Given the description of an element on the screen output the (x, y) to click on. 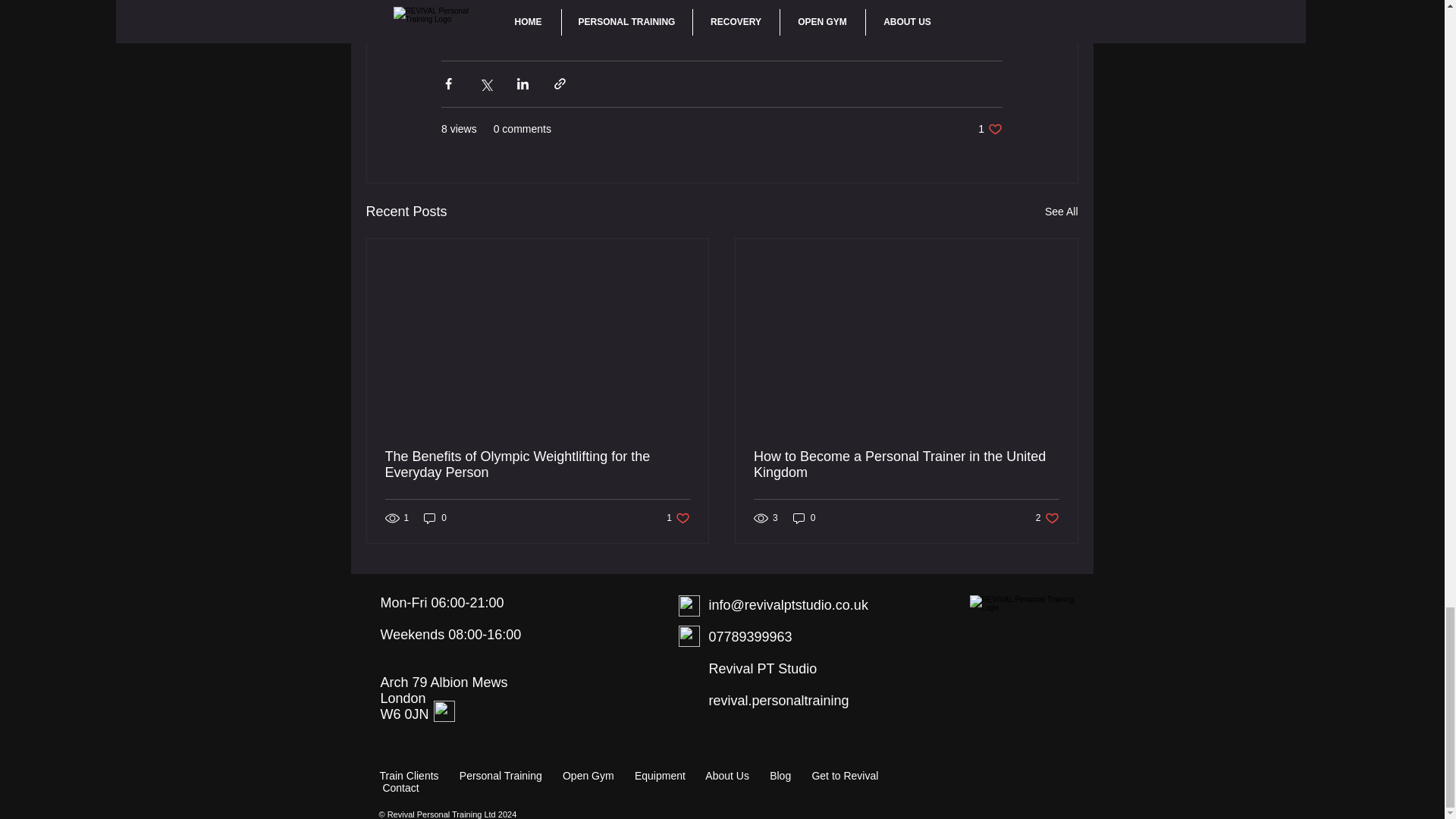
0 (804, 518)
0 (435, 518)
See All (1061, 211)
How to Become a Personal Trainer in the United Kingdom (678, 518)
REVIVAL Personal Training Logo (990, 129)
